Given the description of an element on the screen output the (x, y) to click on. 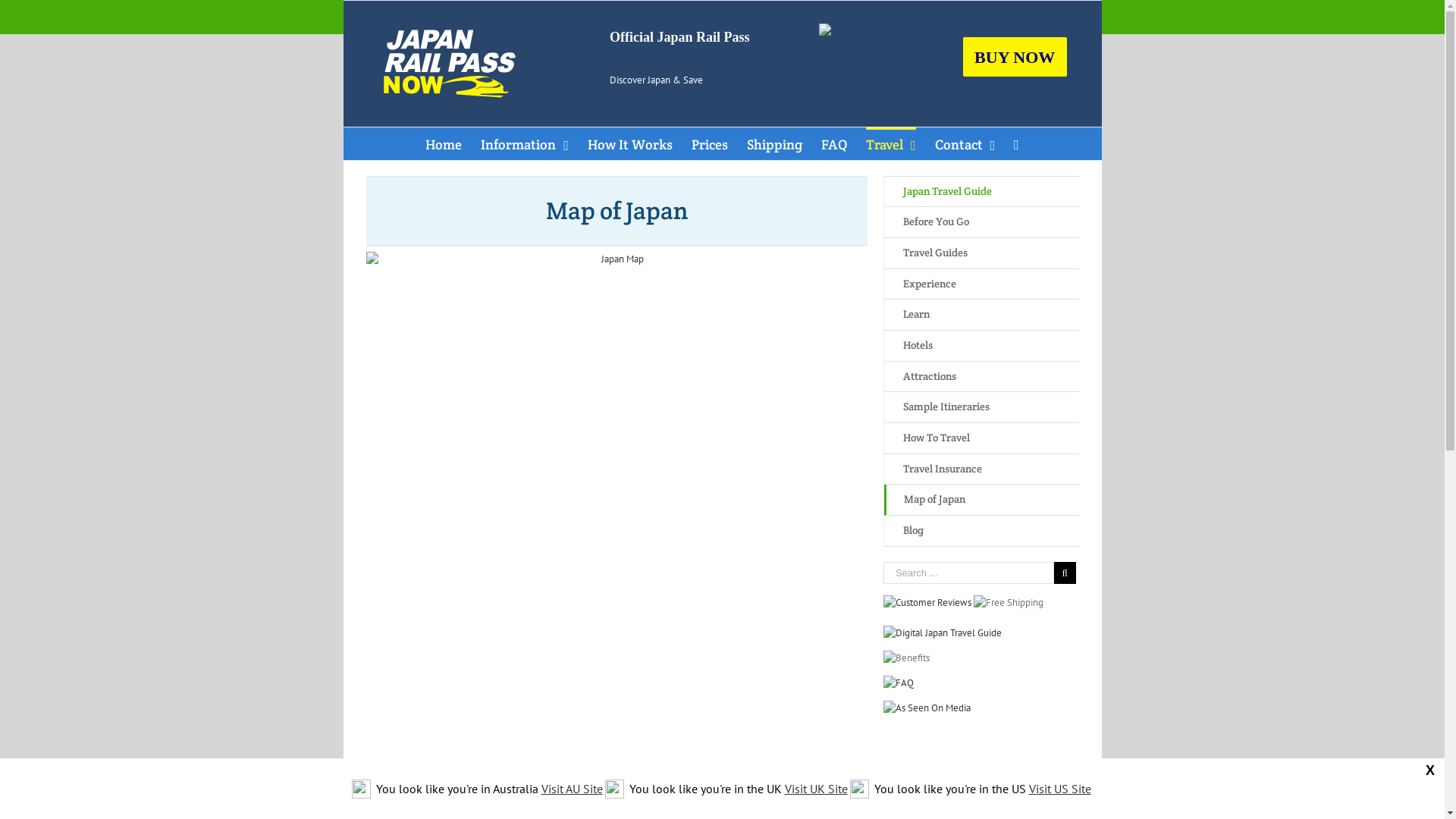
Visit UK Site Element type: text (815, 788)
Contact Element type: text (964, 143)
Travel Insurance Element type: text (981, 469)
FAQ Element type: text (834, 143)
Travel Element type: text (891, 143)
Japan Travel Guide Element type: text (981, 191)
Home Element type: text (443, 143)
Map of Japan Element type: text (981, 499)
Attractions Element type: text (981, 376)
Blog Element type: text (981, 530)
Information Element type: text (524, 143)
BUY NOW Element type: text (1014, 56)
Travel Guides Element type: text (981, 253)
Before You Go Element type: text (981, 222)
Learn Element type: text (981, 314)
Visit AU Site Element type: text (571, 788)
Shipping Element type: text (774, 143)
Experience Element type: text (981, 284)
How To Travel Element type: text (981, 438)
Prices Element type: text (709, 143)
Sample Itineraries Element type: text (981, 407)
Hotels Element type: text (981, 345)
Visit US Site Element type: text (1059, 788)
How It Works Element type: text (629, 143)
